Given the description of an element on the screen output the (x, y) to click on. 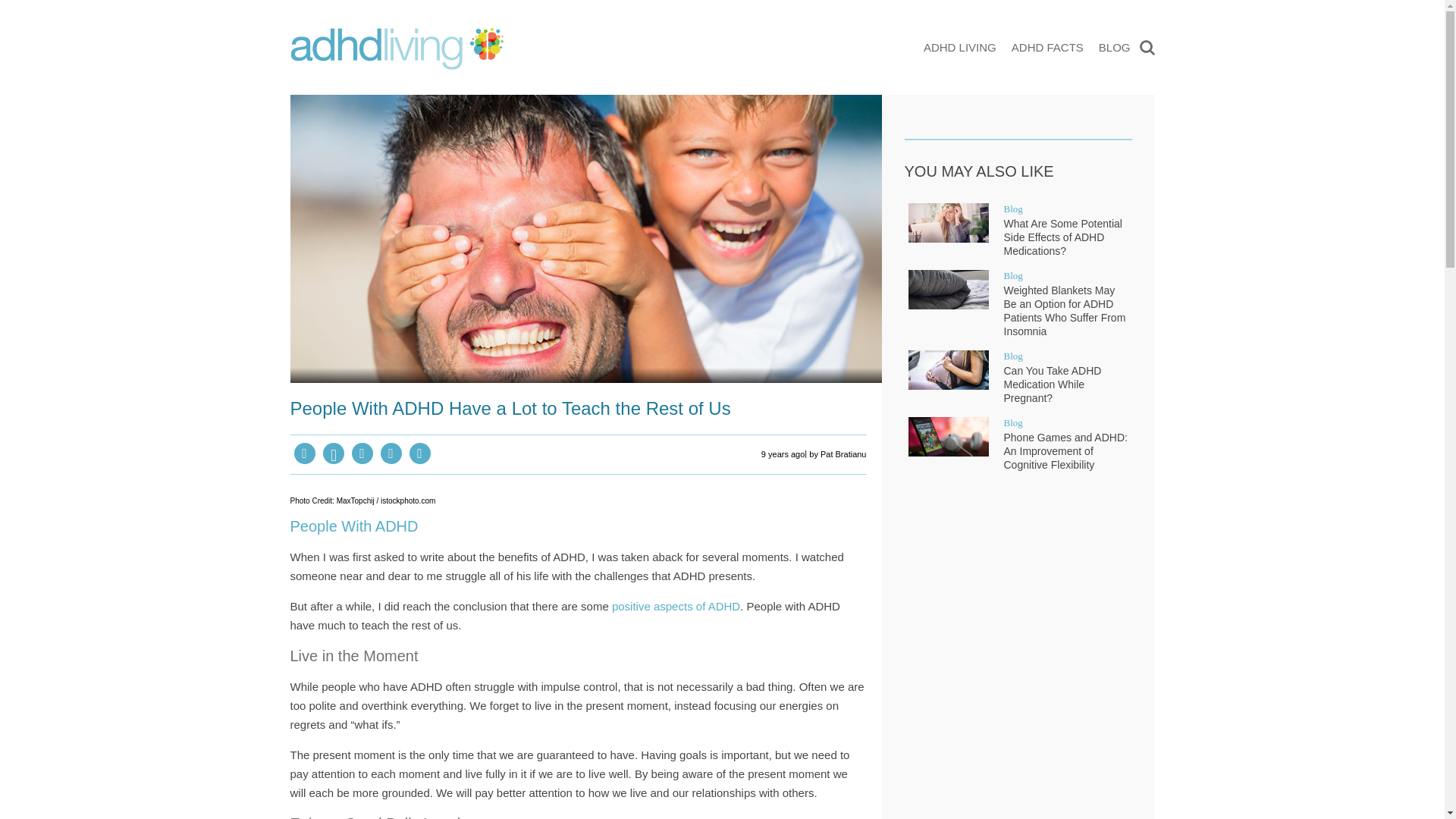
Messenger (362, 453)
Email (419, 453)
Facebook (304, 453)
ADHD FACTS (1047, 47)
Pat Bratianu (843, 454)
ADHDLiving.today (395, 47)
ADHD LIVING (959, 47)
BLOG (1115, 47)
MaxTopchij (355, 500)
positive aspects of ADHD (675, 605)
